Given the description of an element on the screen output the (x, y) to click on. 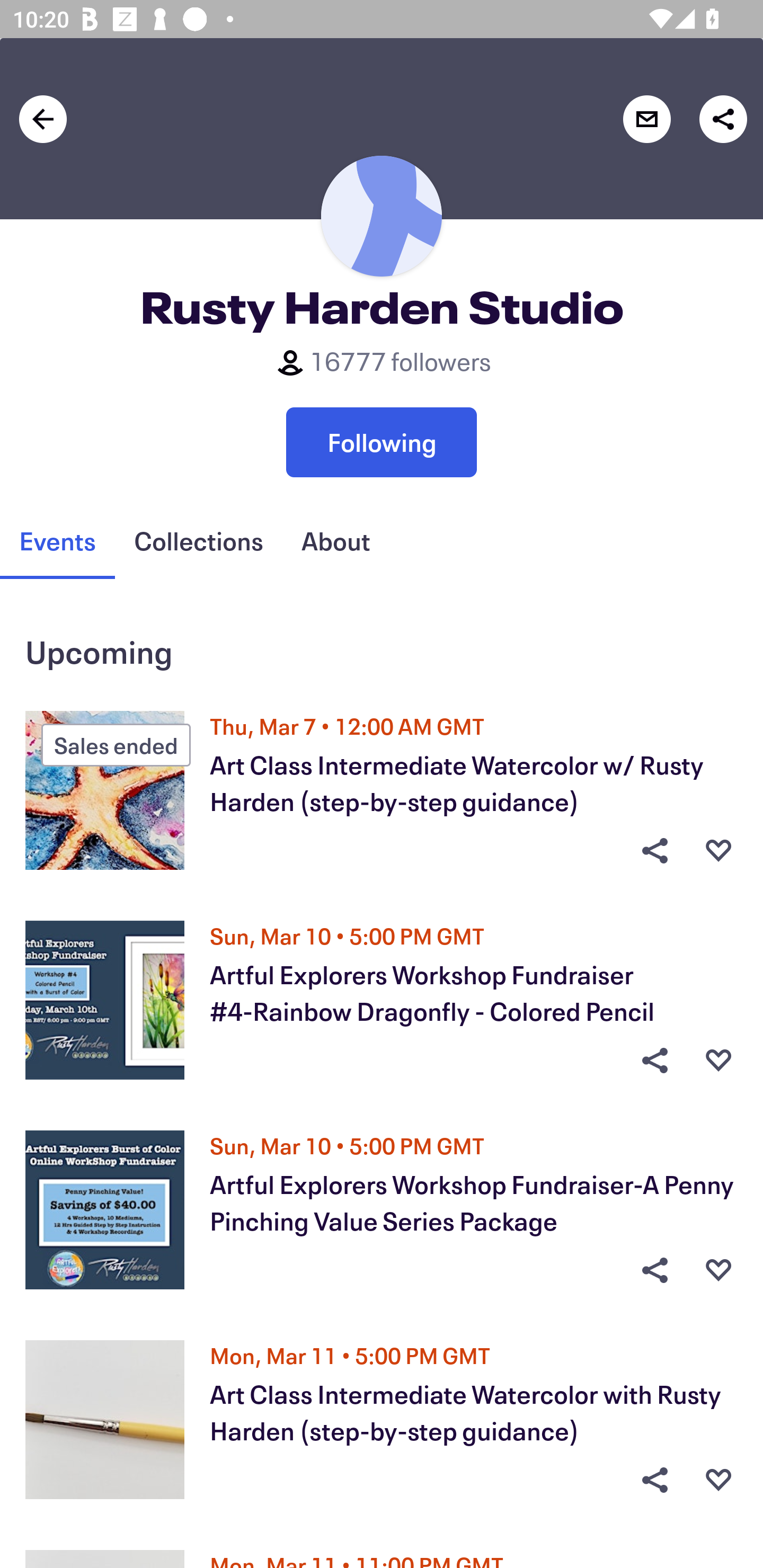
Back navigation arrow (43, 118)
Contact organizer (646, 118)
Share with friends (722, 118)
Following (381, 441)
Collections (198, 540)
About (335, 540)
Share Event (654, 850)
Like event (718, 850)
Share Event (654, 1060)
Like event (718, 1060)
Share Event (654, 1269)
Like event (718, 1269)
Share Event (654, 1480)
Like event (718, 1480)
